Given the description of an element on the screen output the (x, y) to click on. 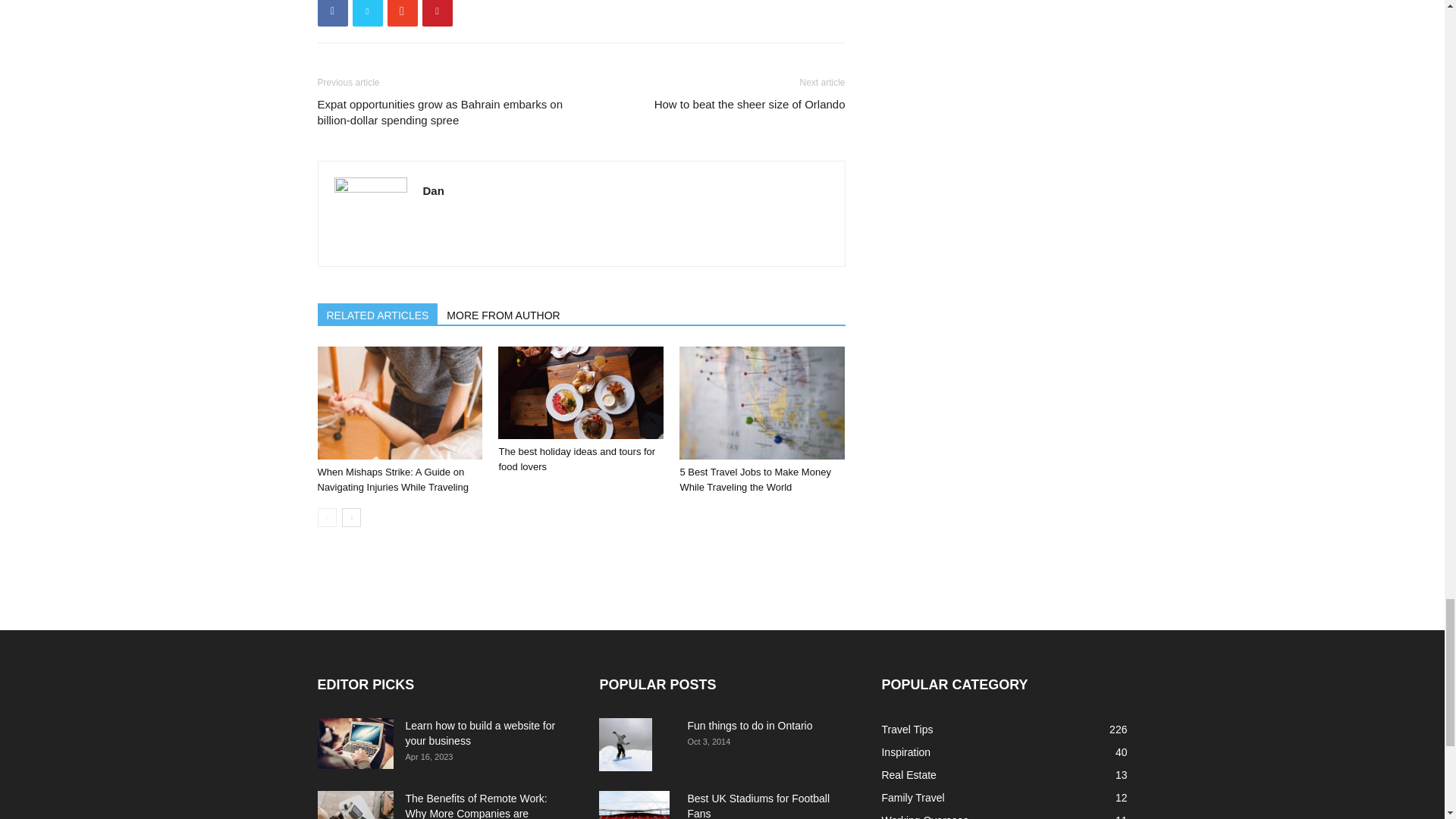
5 Best Travel Jobs to Make Money While Traveling the World (761, 402)
5 Best Travel Jobs to Make Money While Traveling the World (754, 479)
Learn how to build a website for your business (479, 732)
The best holiday ideas and tours for food lovers (580, 391)
Learn how to build a website for your business (355, 743)
The best holiday ideas and tours for food lovers (576, 458)
